Given the description of an element on the screen output the (x, y) to click on. 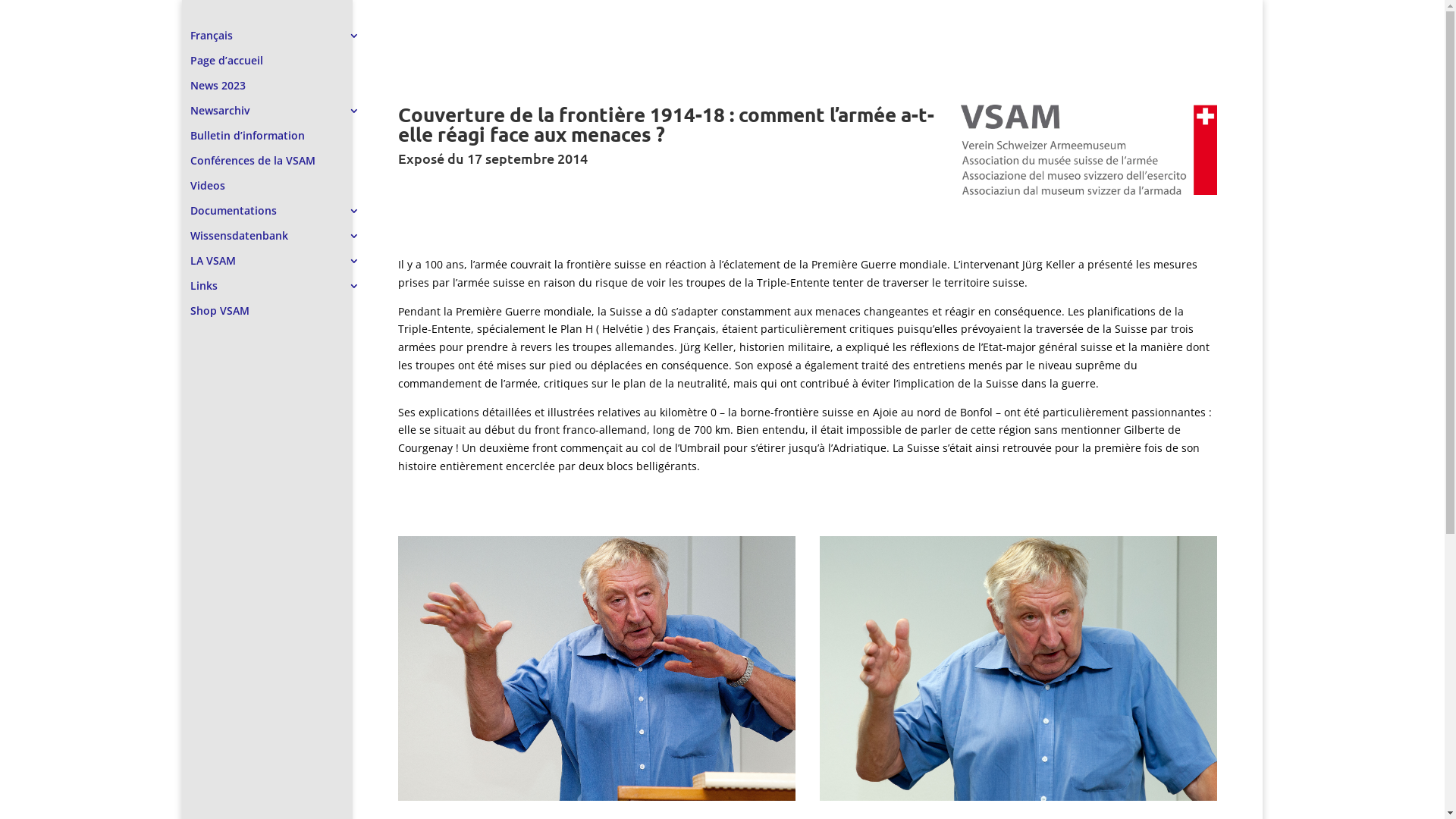
Links Element type: text (282, 292)
Shop VSAM Element type: text (282, 317)
Newsarchiv Element type: text (282, 117)
Wissensdatenbank Element type: text (282, 242)
News 2023 Element type: text (282, 92)
Documentations Element type: text (282, 217)
LA VSAM Element type: text (282, 267)
Videos Element type: text (282, 192)
